Given the description of an element on the screen output the (x, y) to click on. 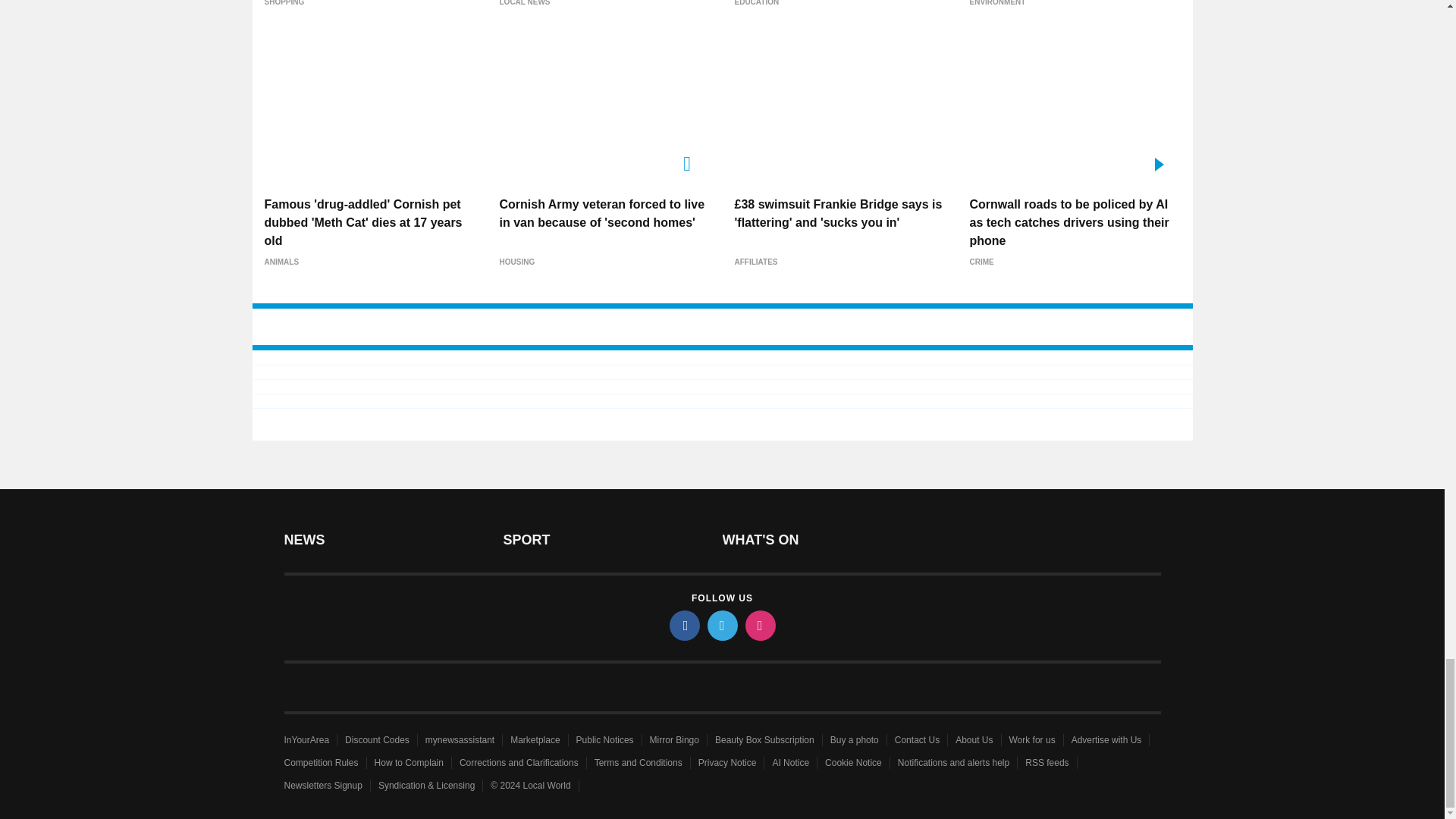
twitter (721, 625)
instagram (759, 625)
facebook (683, 625)
